Given the description of an element on the screen output the (x, y) to click on. 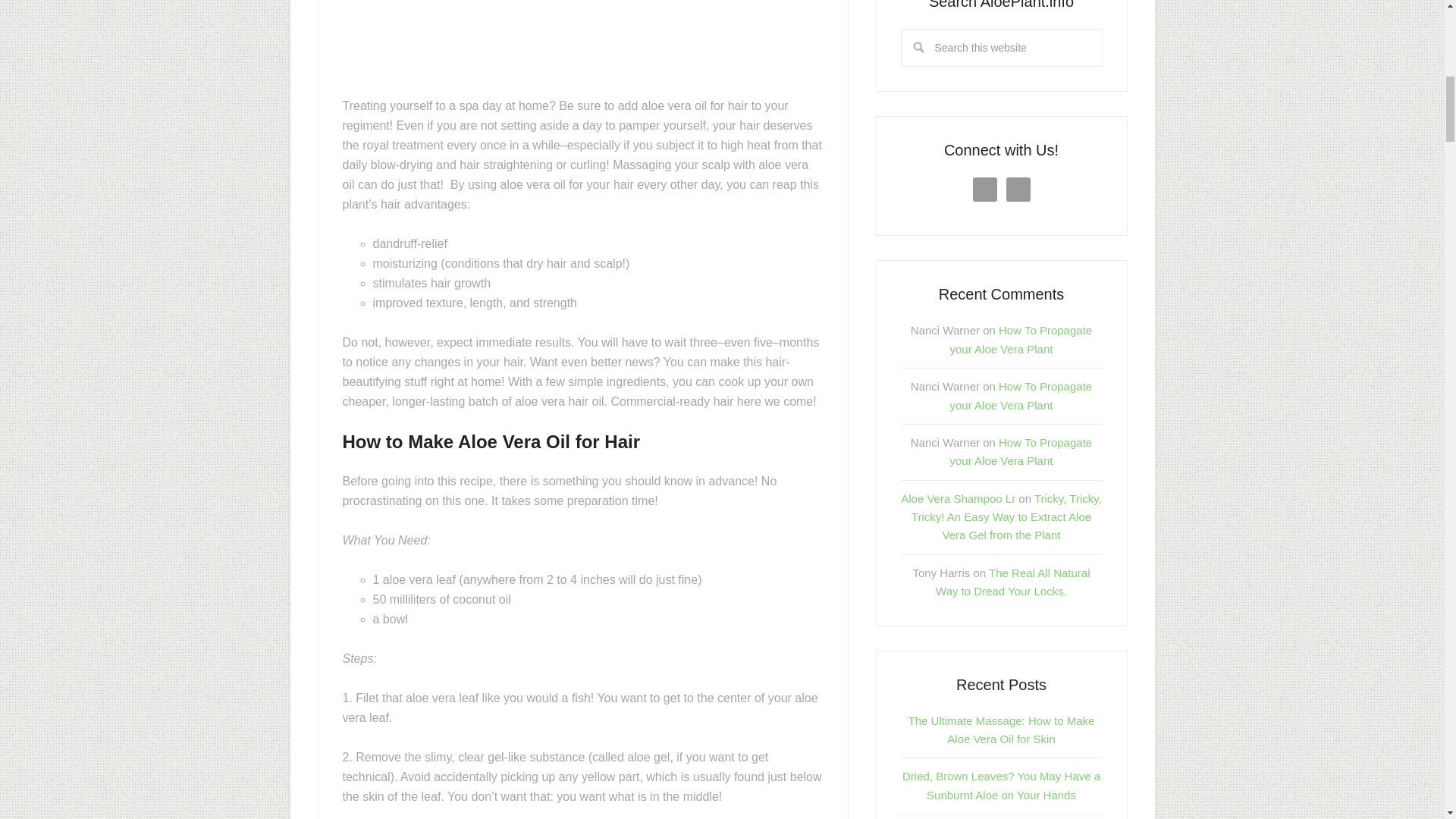
Advertisement (583, 45)
